Given the description of an element on the screen output the (x, y) to click on. 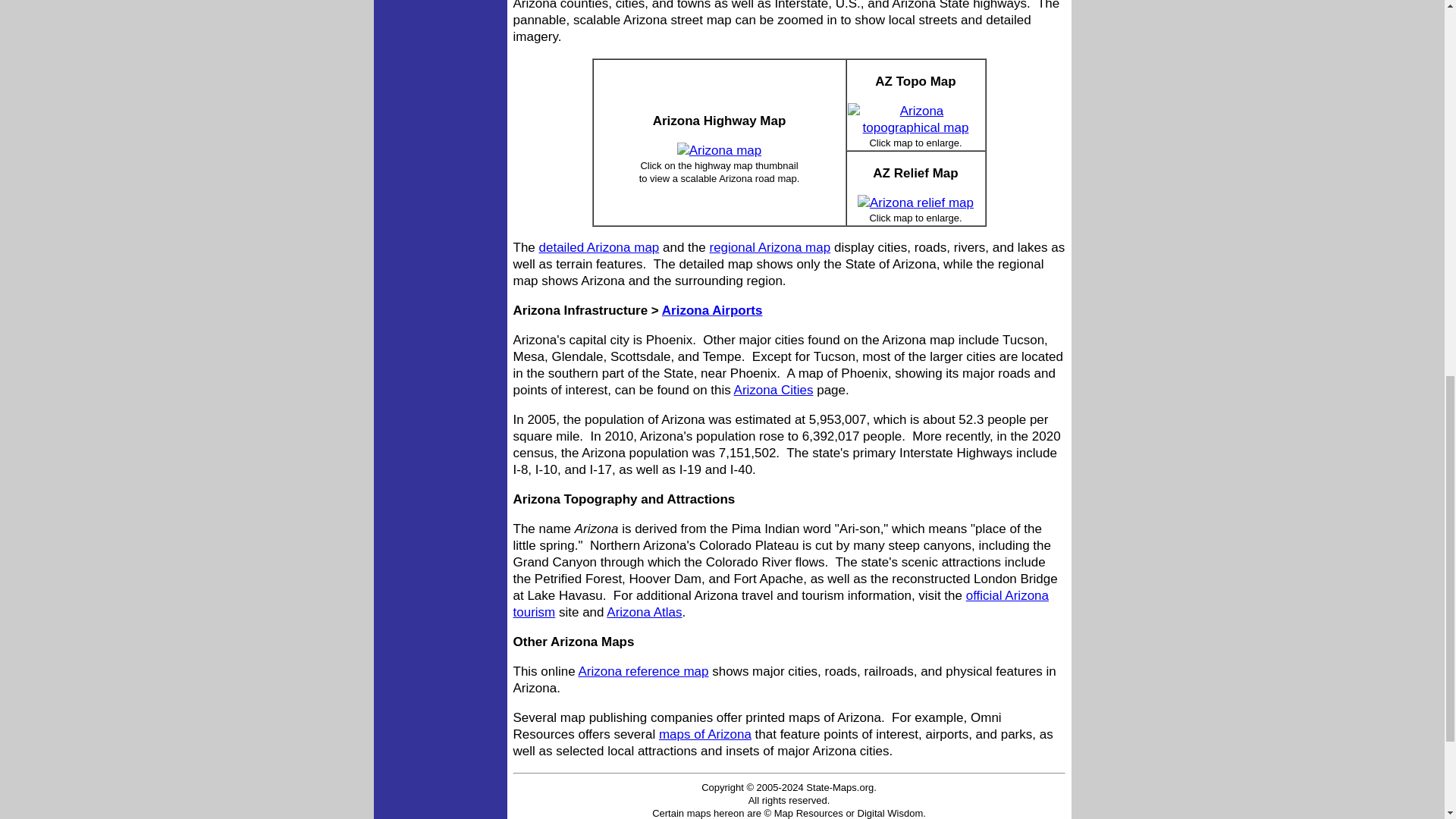
Arizona Airports (712, 310)
Arizona Cities (773, 390)
regional Arizona map (769, 247)
maps of Arizona (705, 734)
Arizona reference map (642, 671)
detailed Arizona map (598, 247)
Arizona Atlas (644, 612)
official Arizona tourism (780, 603)
